Given the description of an element on the screen output the (x, y) to click on. 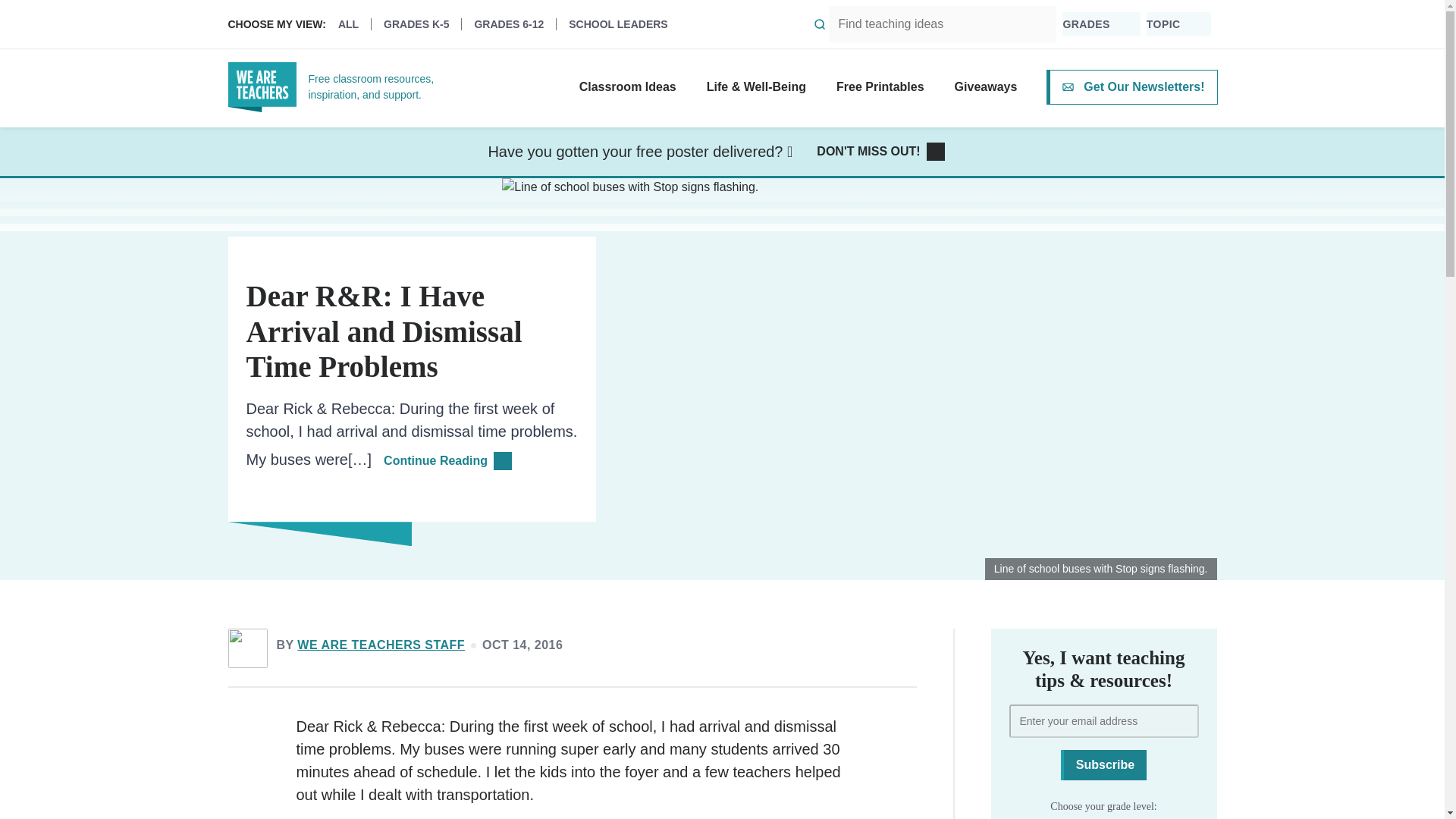
Classroom Ideas (628, 86)
WE ARE TEACHERS STAFF (380, 644)
Submit (820, 23)
ALL (354, 24)
DON'T MISS OUT! (880, 151)
Continue Reading (447, 461)
Giveaways (986, 86)
Subscribe (1104, 765)
Submit (820, 23)
